Given the description of an element on the screen output the (x, y) to click on. 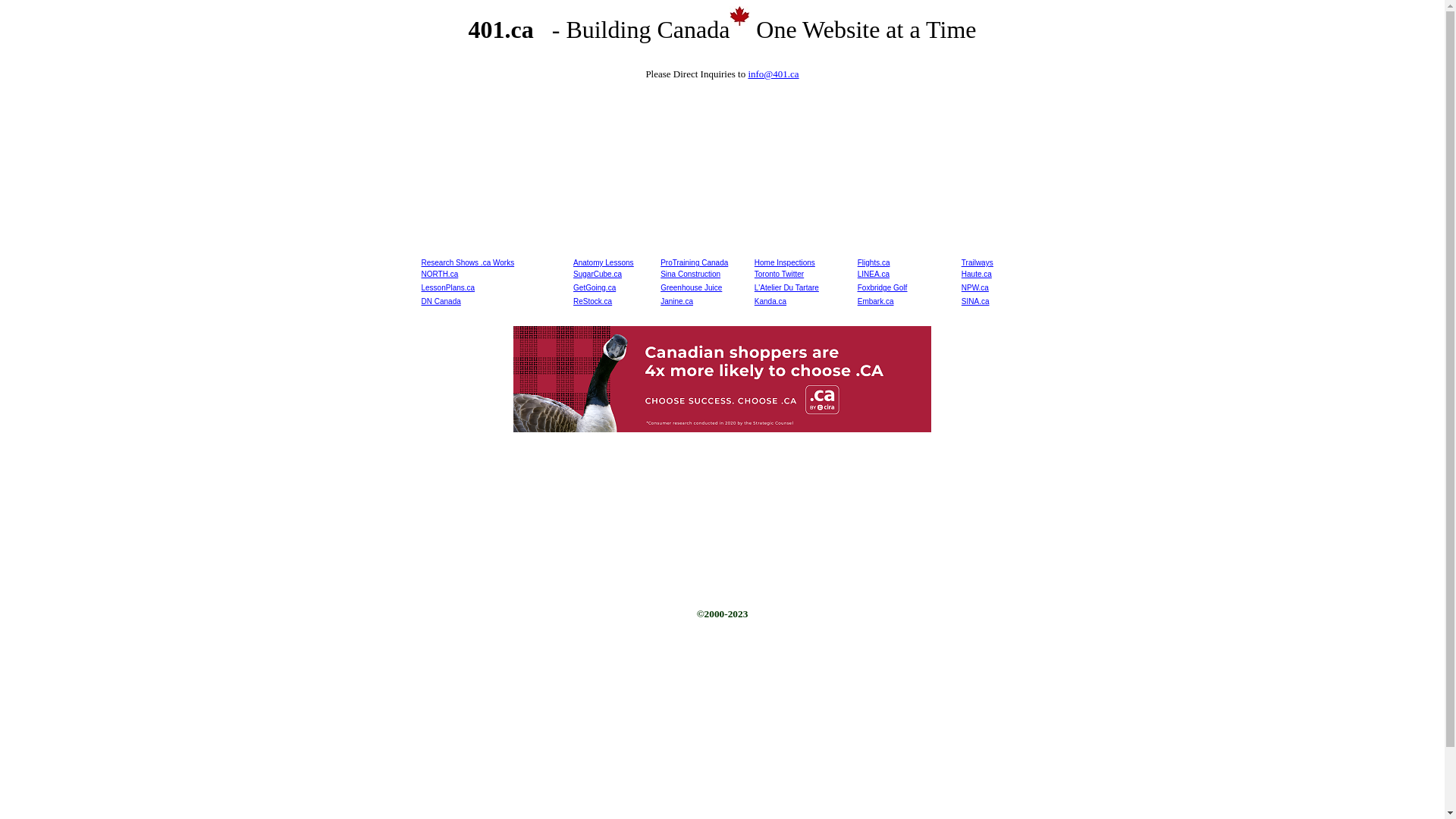
Trailways Element type: text (977, 262)
ReStock.ca Element type: text (592, 301)
Research Shows .ca Works Element type: text (467, 262)
Home Inspections Element type: text (784, 262)
info@401.ca Element type: text (772, 73)
Sina Construction Element type: text (690, 273)
Foxbridge Golf Element type: text (882, 287)
Haute.ca Element type: text (976, 273)
SINA.ca Element type: text (975, 301)
NPW.ca Element type: text (974, 287)
SugarCube.ca Element type: text (597, 273)
L'Atelier Du Tartare Element type: text (786, 287)
NORTH.ca Element type: text (439, 273)
Greenhouse Juice Element type: text (690, 287)
ProTraining Canada Element type: text (694, 262)
DN Canada Element type: text (441, 301)
GetGoing.ca Element type: text (594, 287)
LessonPlans.ca Element type: text (448, 287)
Flights.ca Element type: text (873, 262)
LINEA.ca Element type: text (873, 273)
Janine.ca Element type: text (676, 301)
Toronto Twitter Element type: text (778, 273)
Anatomy Lessons Element type: text (603, 262)
Kanda.ca Element type: text (770, 301)
Embark.ca Element type: text (875, 301)
